Given the description of an element on the screen output the (x, y) to click on. 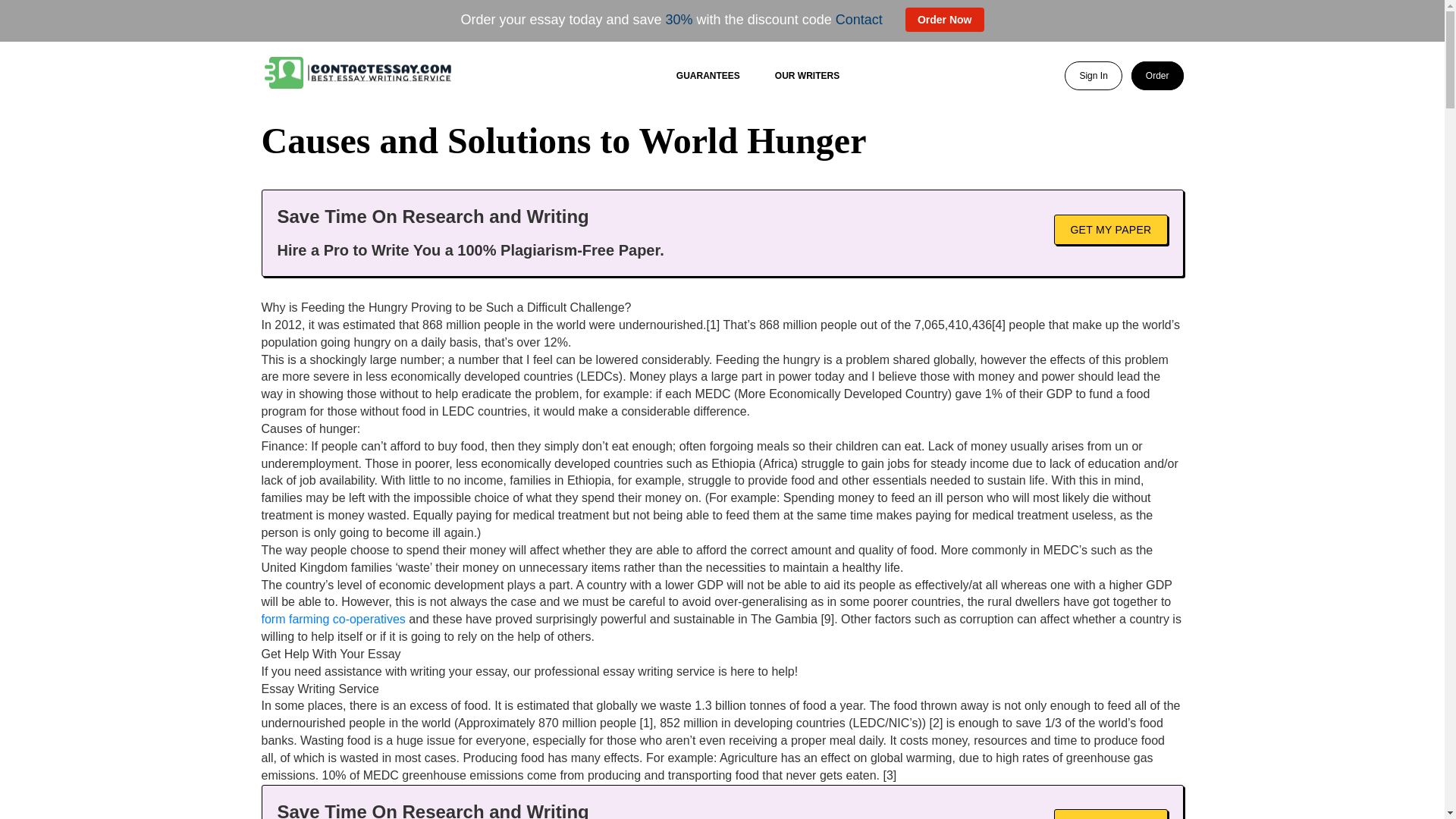
OUR WRITERS (807, 75)
Order Now (944, 19)
form farming co-operatives (332, 618)
GET MY PAPER (1110, 228)
Sign In (1092, 75)
Order (1157, 75)
GUARANTEES (708, 75)
GET MY PAPER (1110, 814)
